Given the description of an element on the screen output the (x, y) to click on. 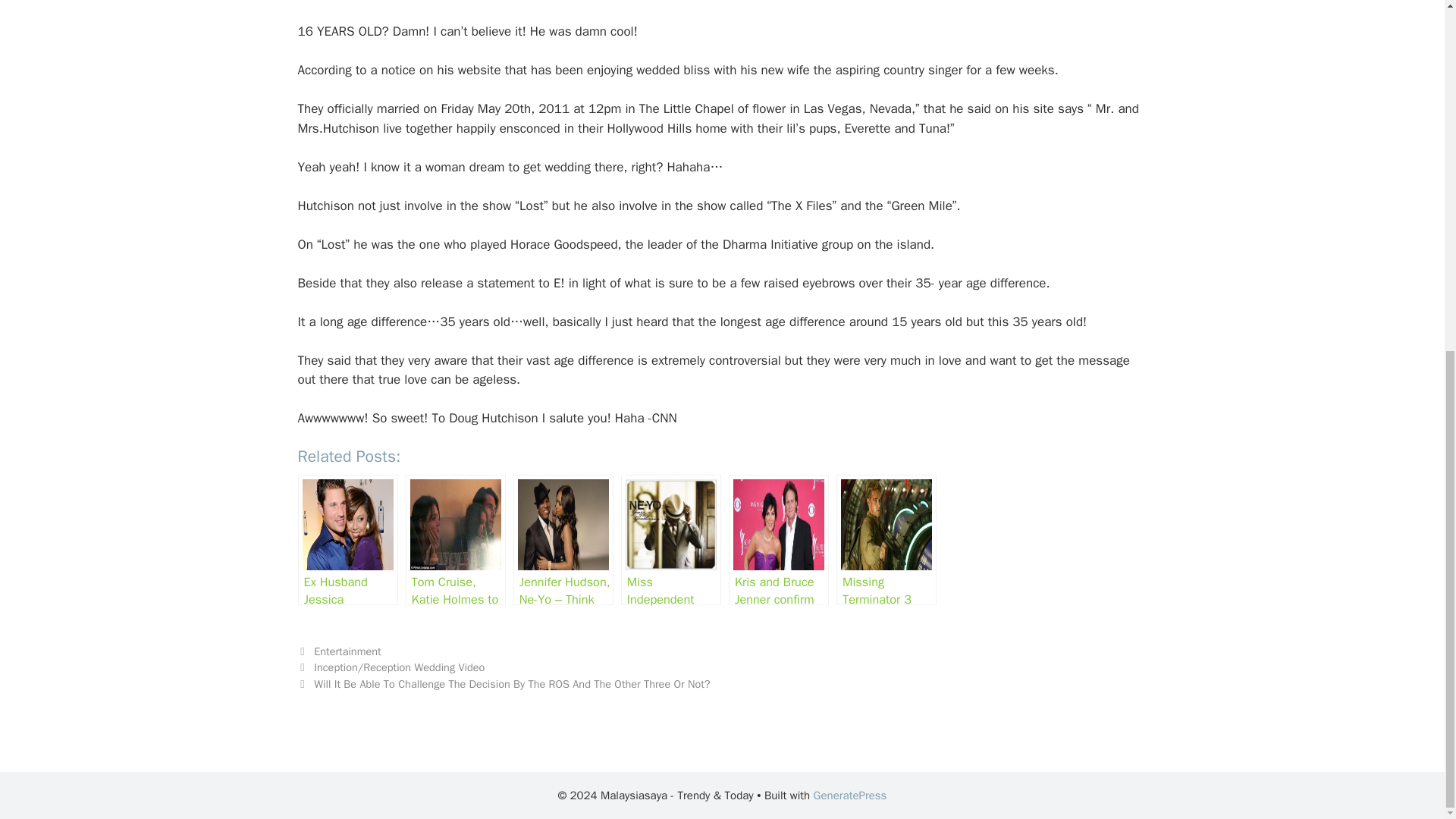
Entertainment (347, 651)
GeneratePress (849, 795)
